Given the description of an element on the screen output the (x, y) to click on. 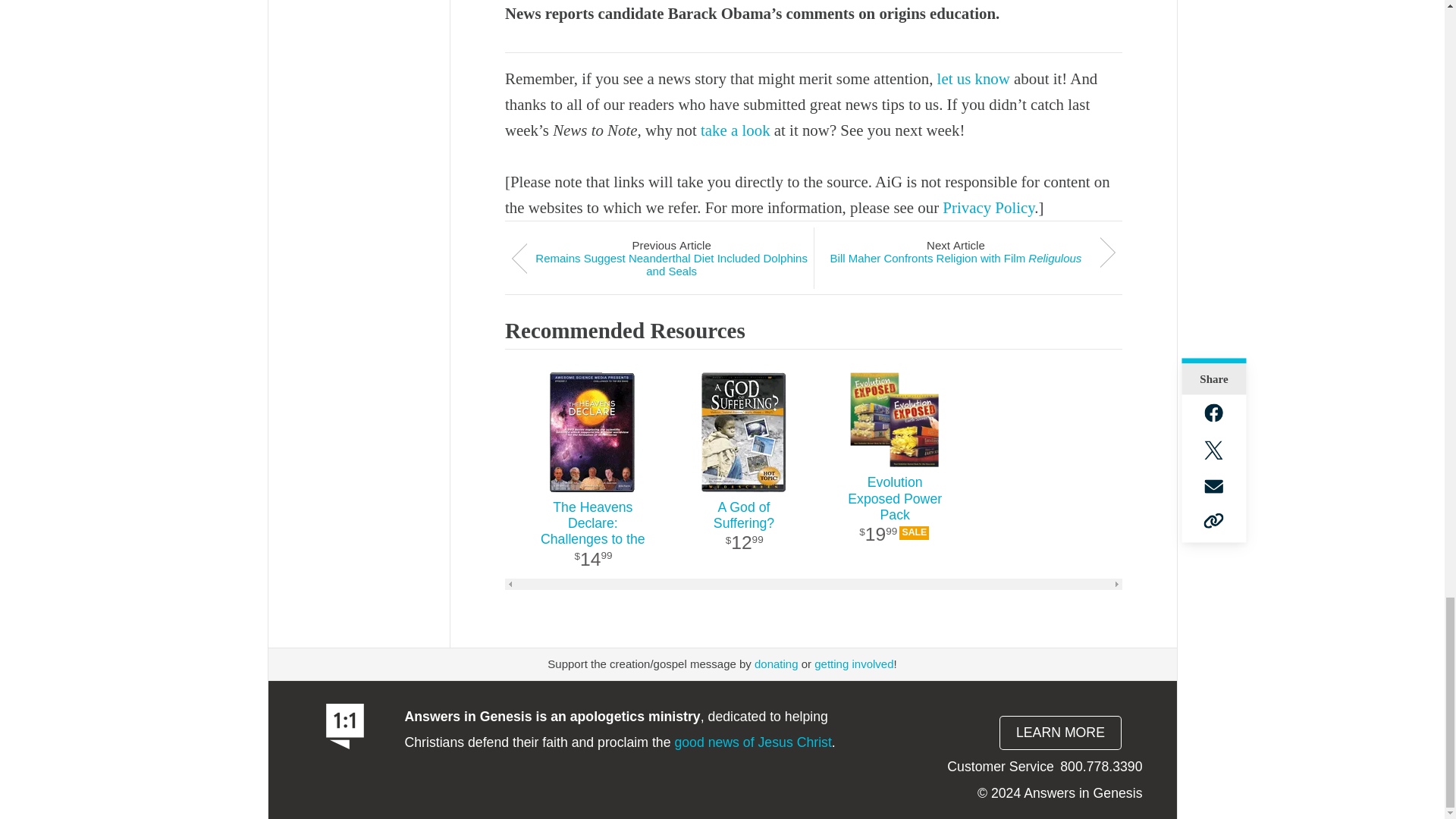
A God of Suffering? (742, 432)
A God of Suffering? (743, 534)
The Heavens Declare: Challenges to the Big Bang (592, 432)
The Heavens Declare: Challenges to the Big Bang (592, 534)
